Given the description of an element on the screen output the (x, y) to click on. 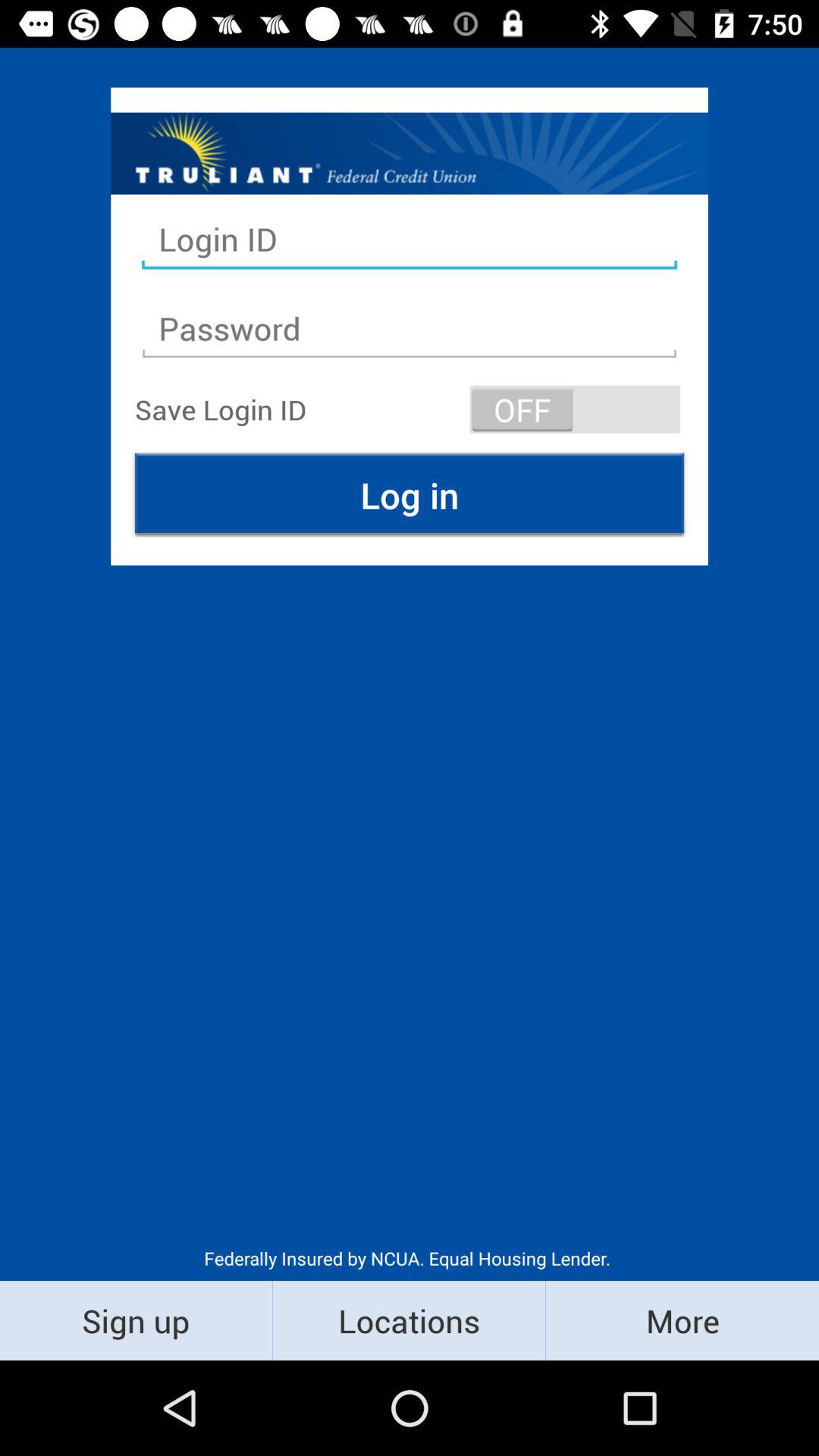
jump until the log in (409, 494)
